Given the description of an element on the screen output the (x, y) to click on. 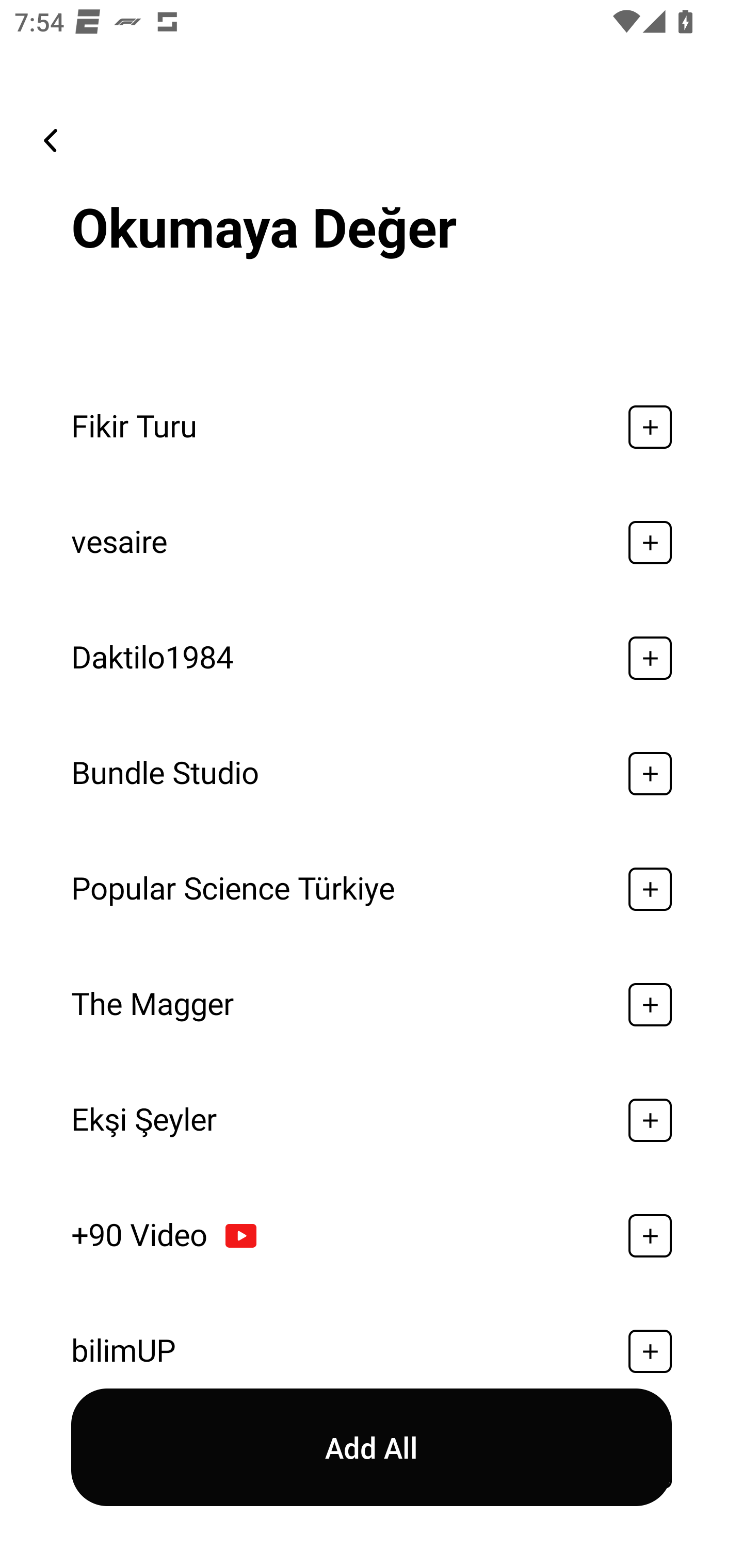
Leading Icon (50, 140)
Fikir Turu Add To My Bundle (371, 427)
Add To My Bundle (650, 427)
vesaire Add To My Bundle (371, 542)
Add To My Bundle (650, 542)
Daktilo1984 Add To My Bundle (371, 657)
Add To My Bundle (650, 657)
Bundle Studio Add To My Bundle (371, 773)
Add To My Bundle (650, 773)
Popular Science Türkiye Add To My Bundle (371, 888)
Add To My Bundle (650, 888)
The Magger Add To My Bundle (371, 1004)
Add To My Bundle (650, 1004)
Ekşi Şeyler Add To My Bundle (371, 1120)
Add To My Bundle (650, 1120)
+90 Video video channel icon Add To My Bundle (371, 1236)
Add To My Bundle (650, 1236)
bilimUP Add To My Bundle (371, 1348)
Add To My Bundle (650, 1350)
Add All (371, 1447)
